Given the description of an element on the screen output the (x, y) to click on. 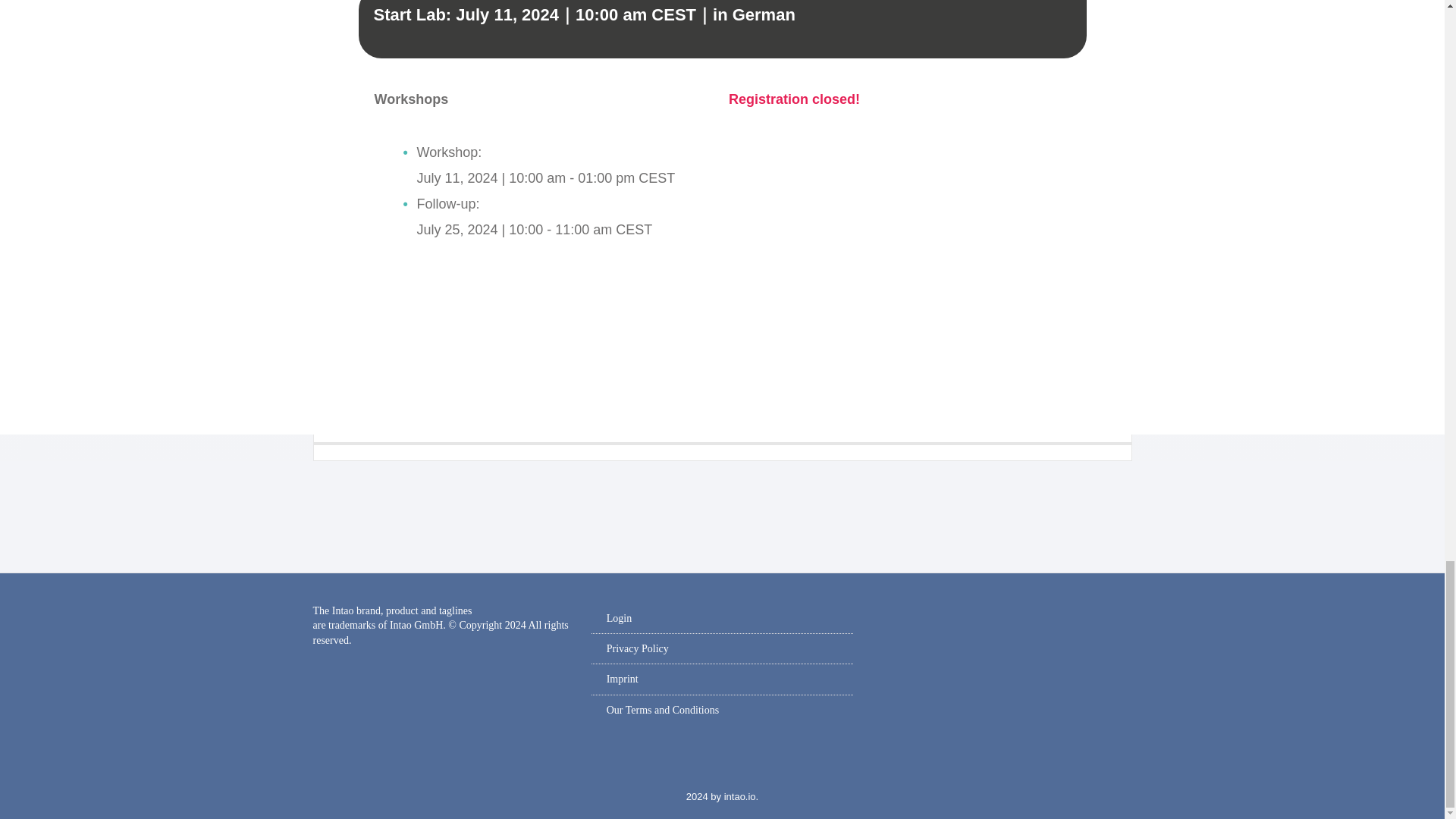
Imprint (623, 678)
Privacy Policy (637, 648)
Login (619, 618)
Our Terms and Conditions (663, 709)
